Given the description of an element on the screen output the (x, y) to click on. 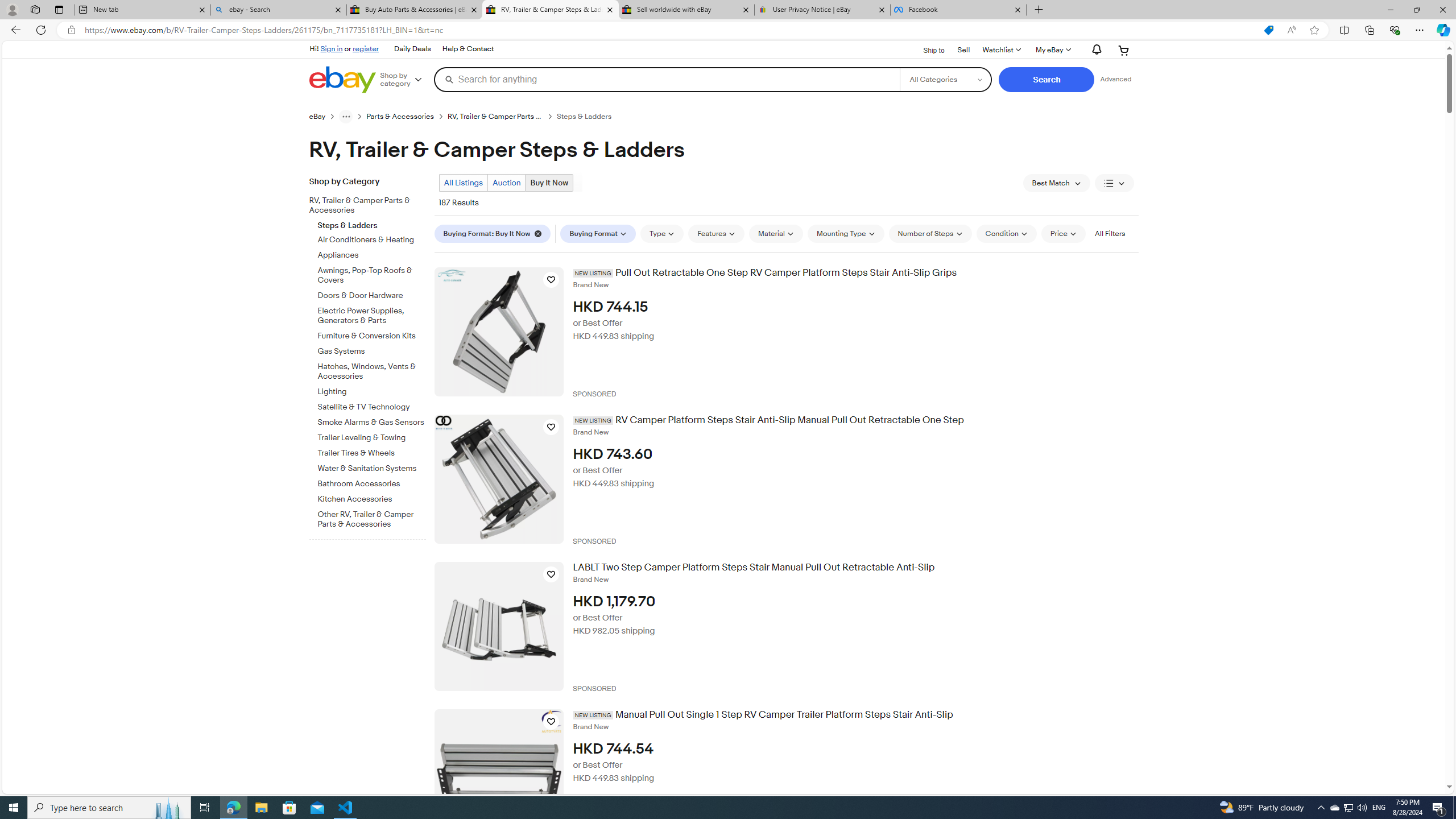
Water & Sanitation Systems (371, 468)
Doors & Door Hardware (371, 293)
register (366, 48)
Trailer Leveling & Towing (371, 437)
Condition (1005, 233)
Daily Deals (411, 49)
My eBay (1052, 49)
Advanced Search (1115, 78)
Type (662, 233)
Mounting Type (844, 233)
Doors & Door Hardware (371, 295)
Parts & Accessories (407, 116)
Furniture & Conversion Kits (371, 333)
